Given the description of an element on the screen output the (x, y) to click on. 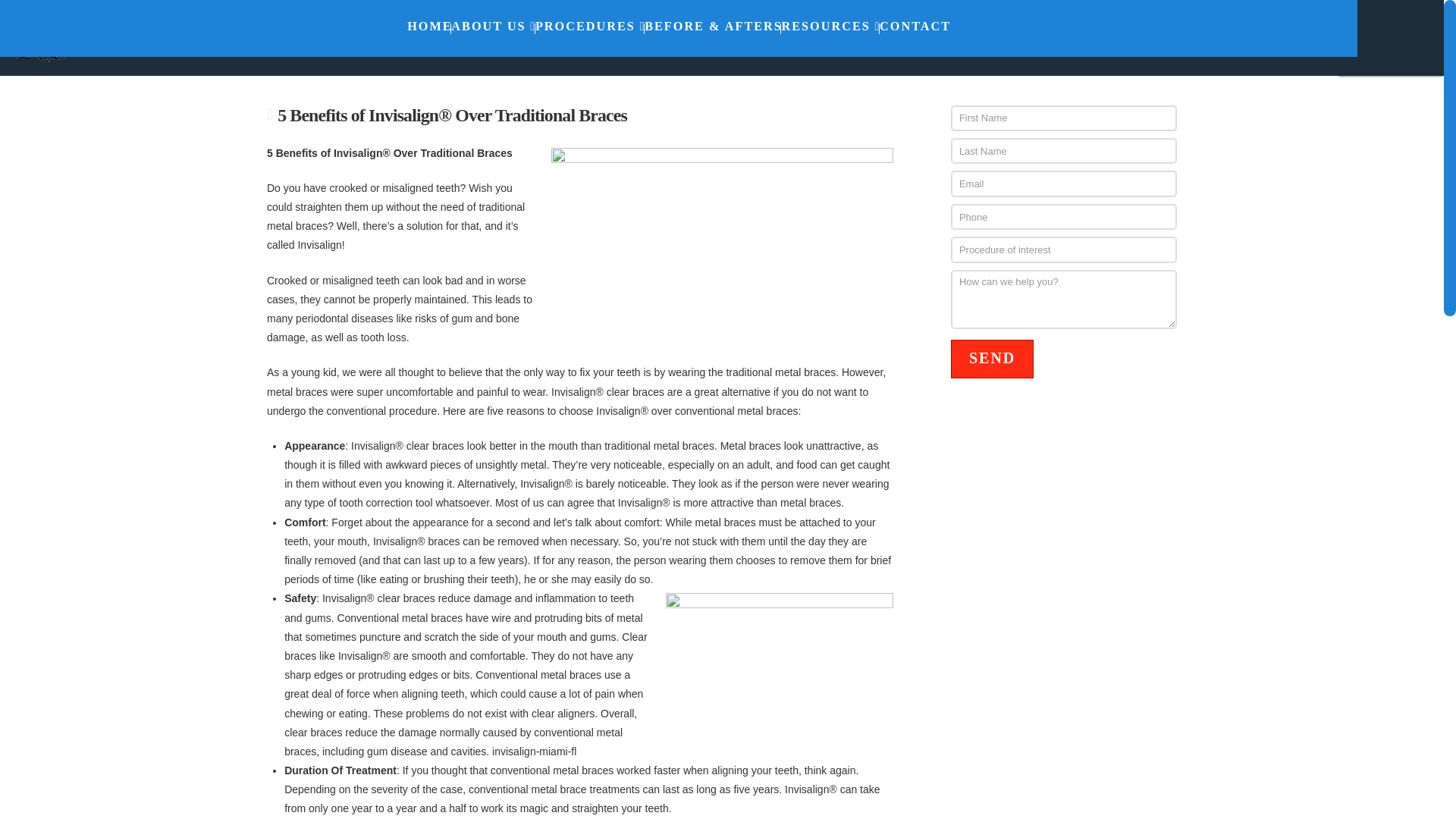
CONTACT US (1268, 36)
Send (991, 358)
PROCEDURES (590, 28)
ABOUT US (493, 28)
BOOK APPOINTMENT (1116, 36)
